Given the description of an element on the screen output the (x, y) to click on. 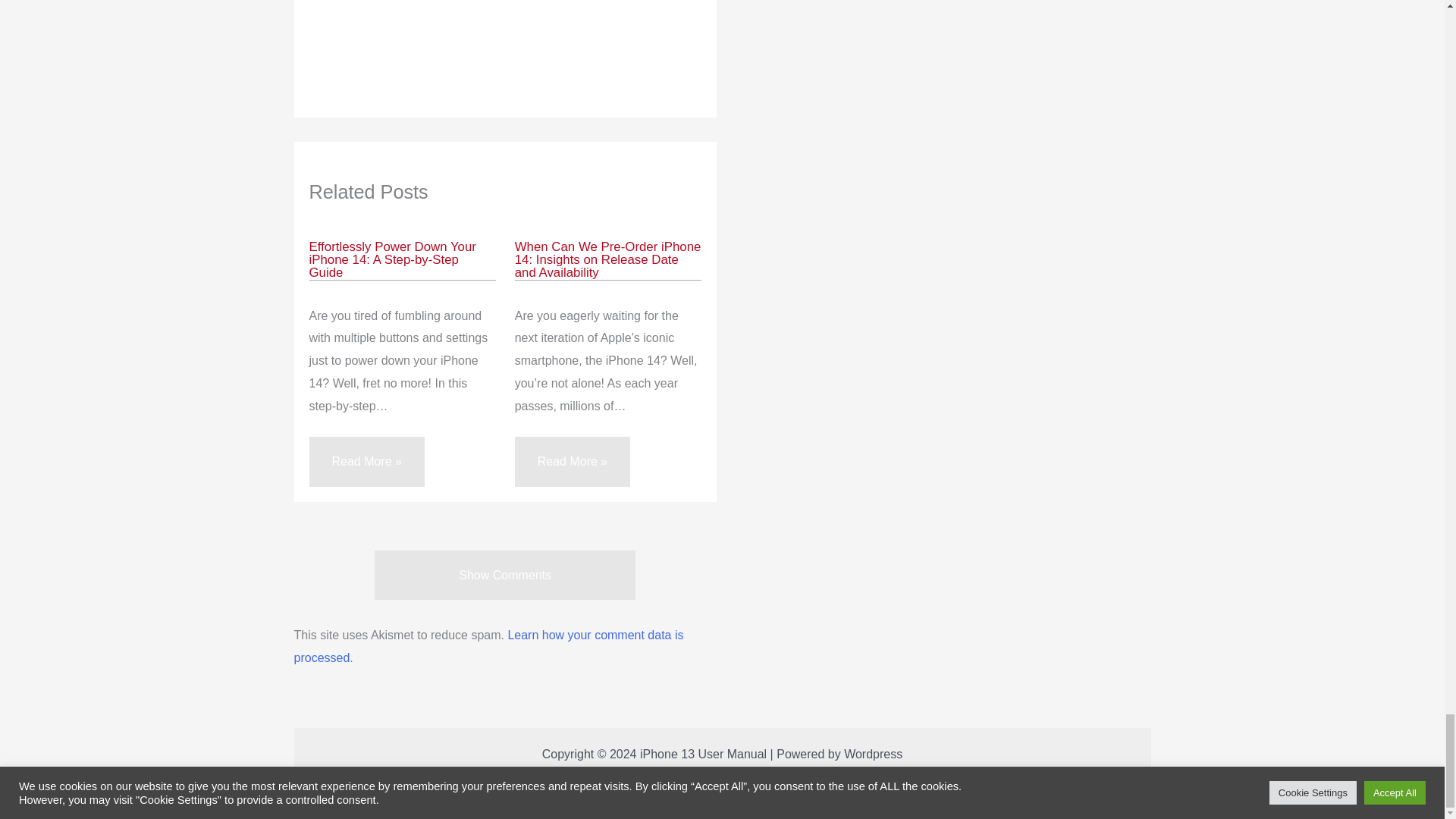
Effortlessly Power Down Your iPhone 14: A Step-by-Step Guide (392, 259)
Learn how your comment data is processed (489, 646)
